Given the description of an element on the screen output the (x, y) to click on. 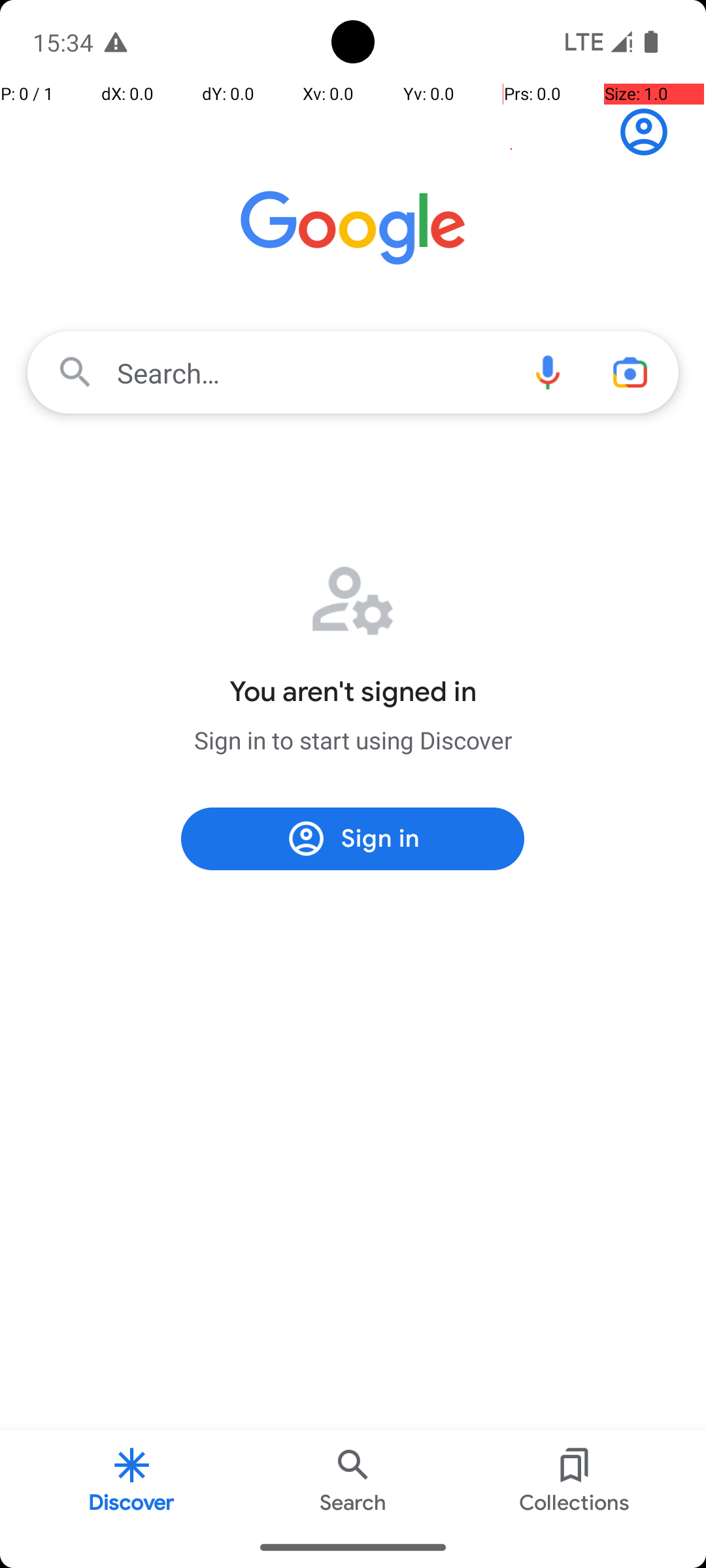
Sign in Element type: android.widget.FrameLayout (650, 131)
Search… Element type: android.view.ViewGroup (352, 372)
Voice search Element type: android.widget.ImageButton (547, 372)
Camera search Element type: android.widget.ImageButton (629, 372)
Discover Element type: android.widget.FrameLayout (131, 1478)
Search Element type: android.widget.FrameLayout (353, 1478)
Collections Button Element type: android.widget.FrameLayout (574, 1478)
You aren't signed in Element type: android.widget.TextView (352, 691)
Sign in to start using Discover Element type: android.widget.TextView (352, 739)
